Given the description of an element on the screen output the (x, y) to click on. 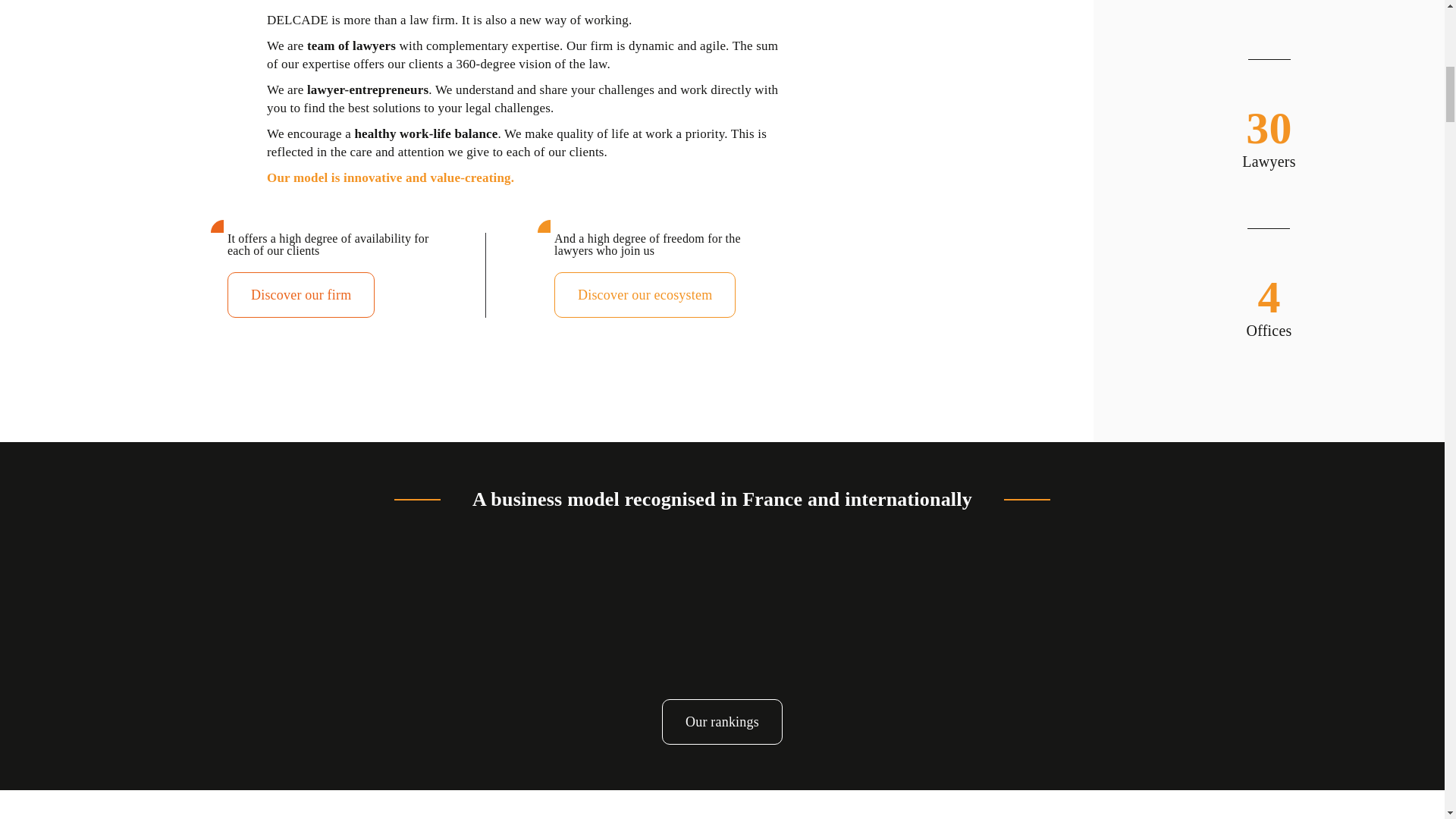
Discover our ecosystem (644, 294)
Discover our firm (300, 294)
Discover our firm (300, 294)
Our rankings (722, 721)
Our rankings (722, 721)
